Given the description of an element on the screen output the (x, y) to click on. 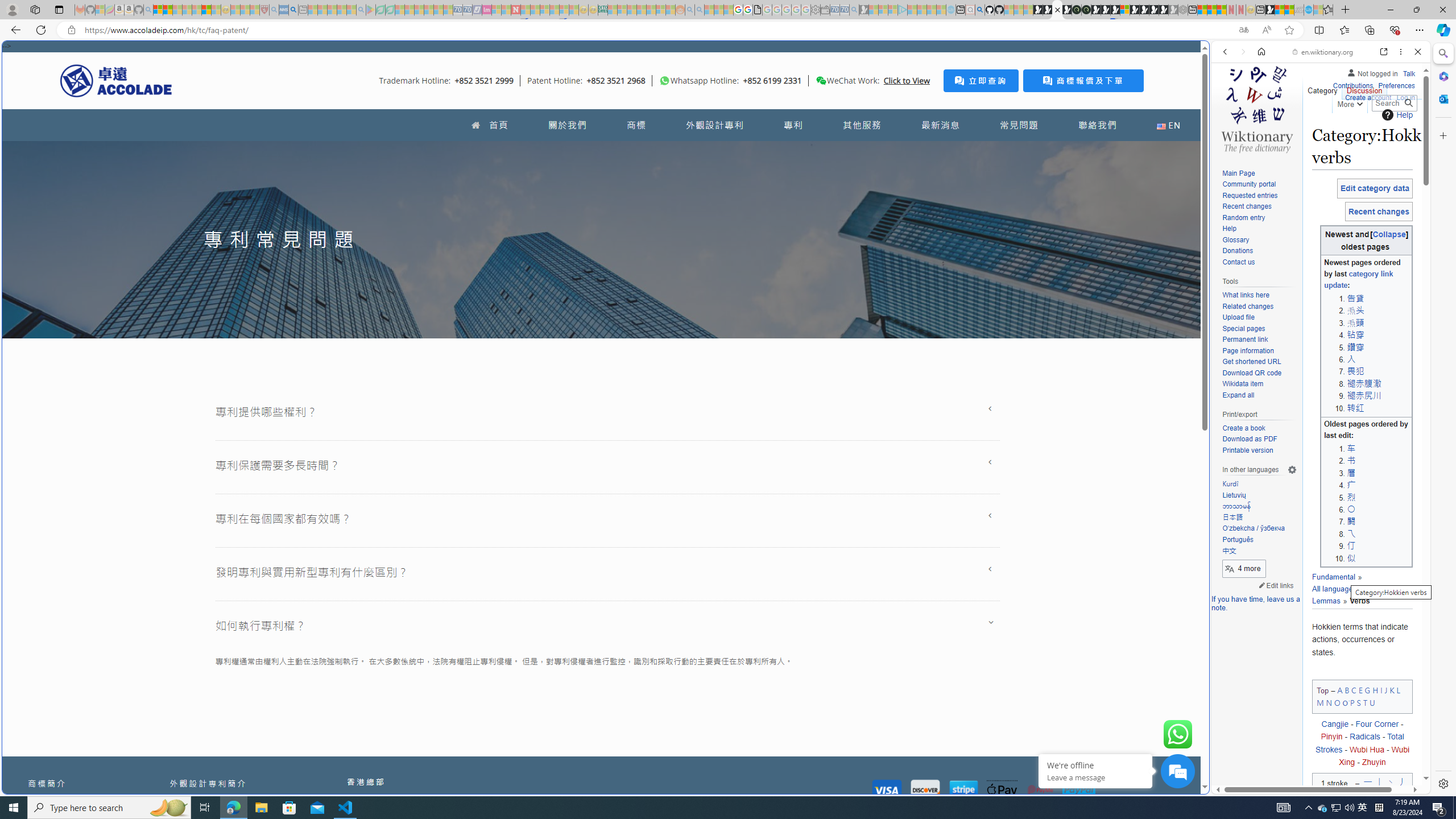
N (1329, 701)
Download as PDF (1248, 438)
en.wiktionary.org (1323, 51)
Log in (1405, 96)
